Given the description of an element on the screen output the (x, y) to click on. 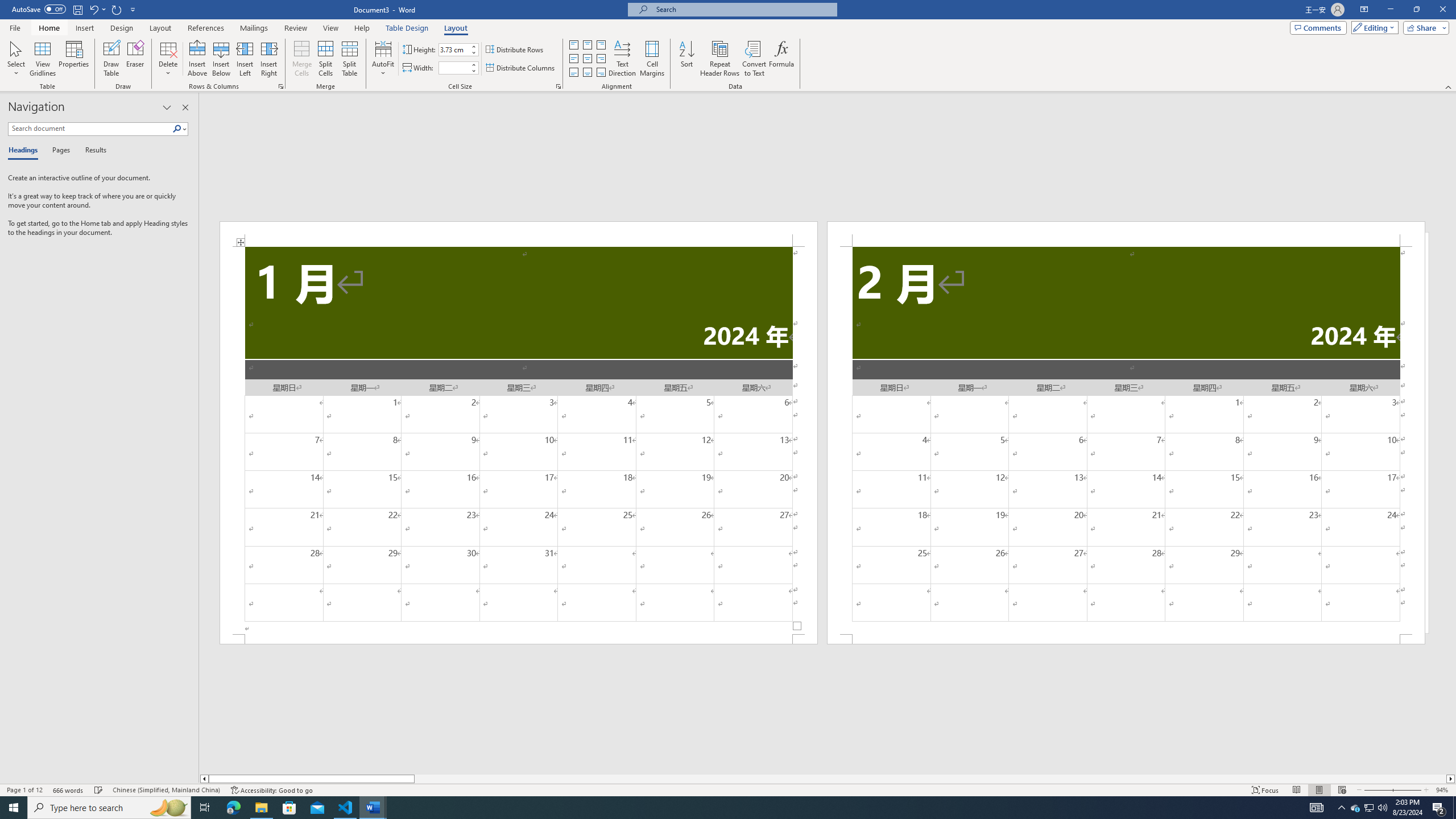
Column right (1450, 778)
Align Top Center (587, 44)
Align Bottom Center (587, 72)
Distribute Rows (515, 49)
Align Bottom Justified (573, 72)
Table Column Width (453, 67)
Merge Cells (301, 58)
Insert Below (220, 58)
